Given the description of an element on the screen output the (x, y) to click on. 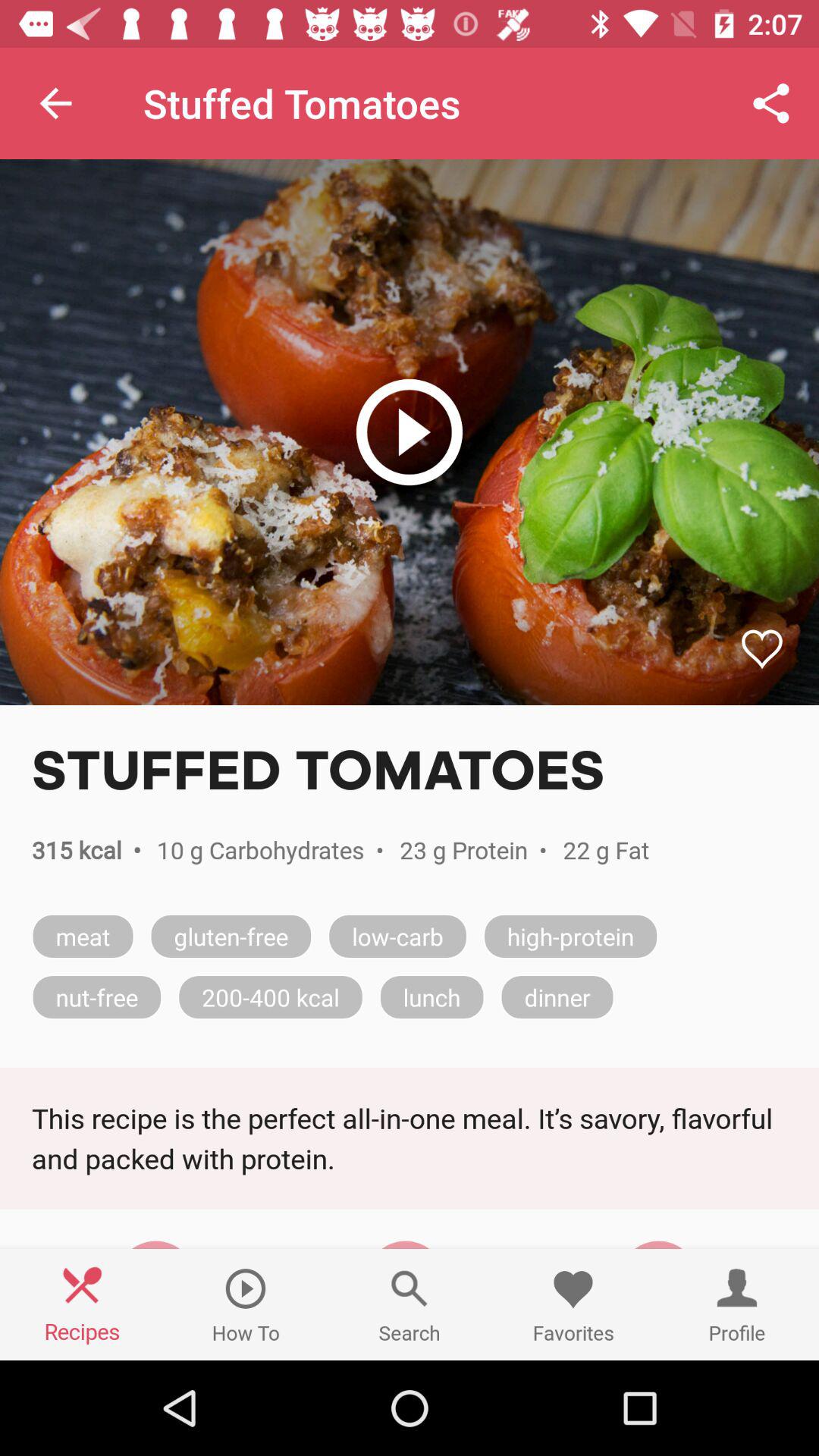
click the icon below the stuffed tomatoes icon (409, 431)
